Given the description of an element on the screen output the (x, y) to click on. 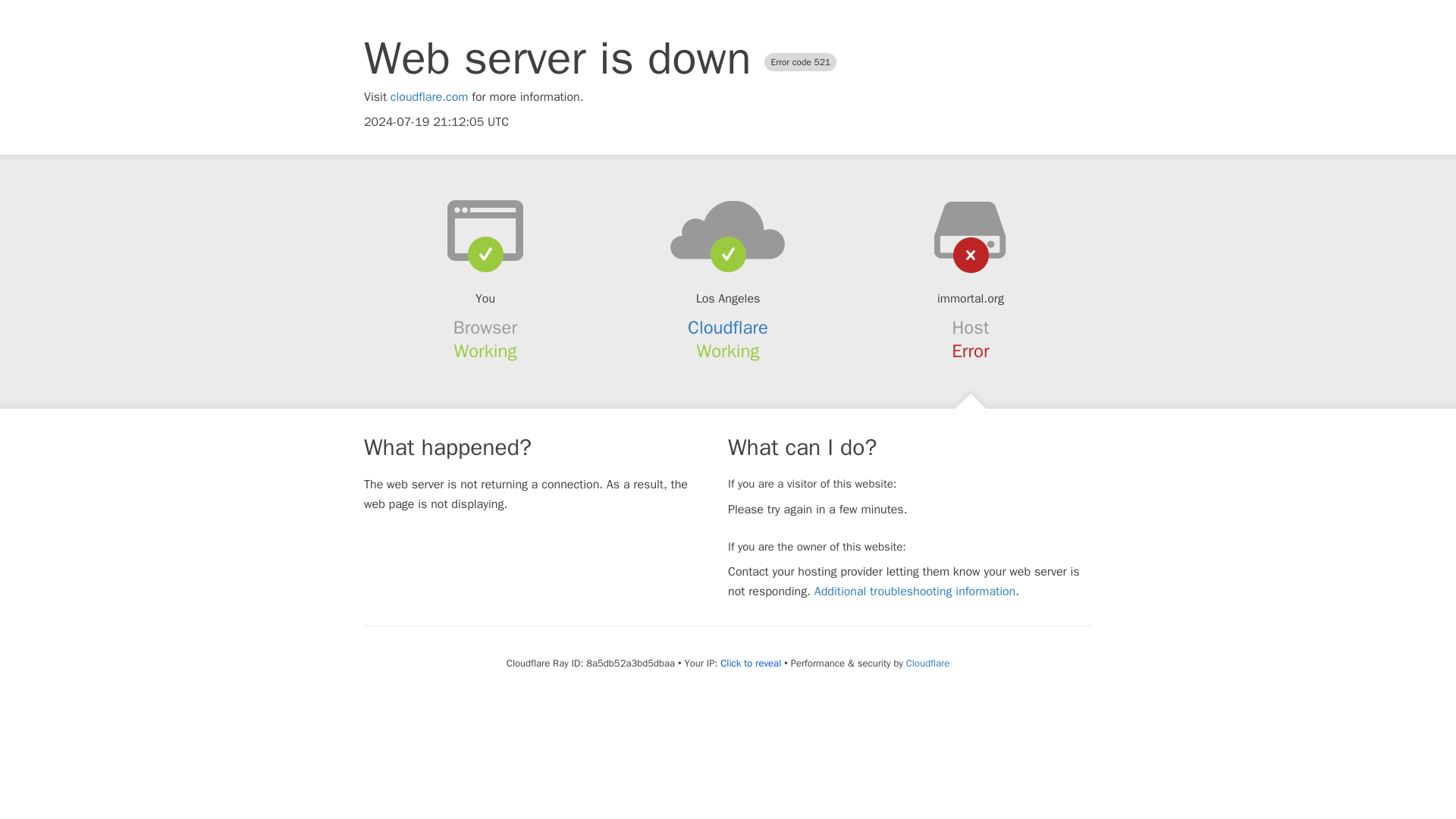
cloudflare.com (429, 96)
Additional troubleshooting information (913, 590)
Cloudflare (927, 662)
Cloudflare (727, 327)
Click to reveal (750, 663)
